Given the description of an element on the screen output the (x, y) to click on. 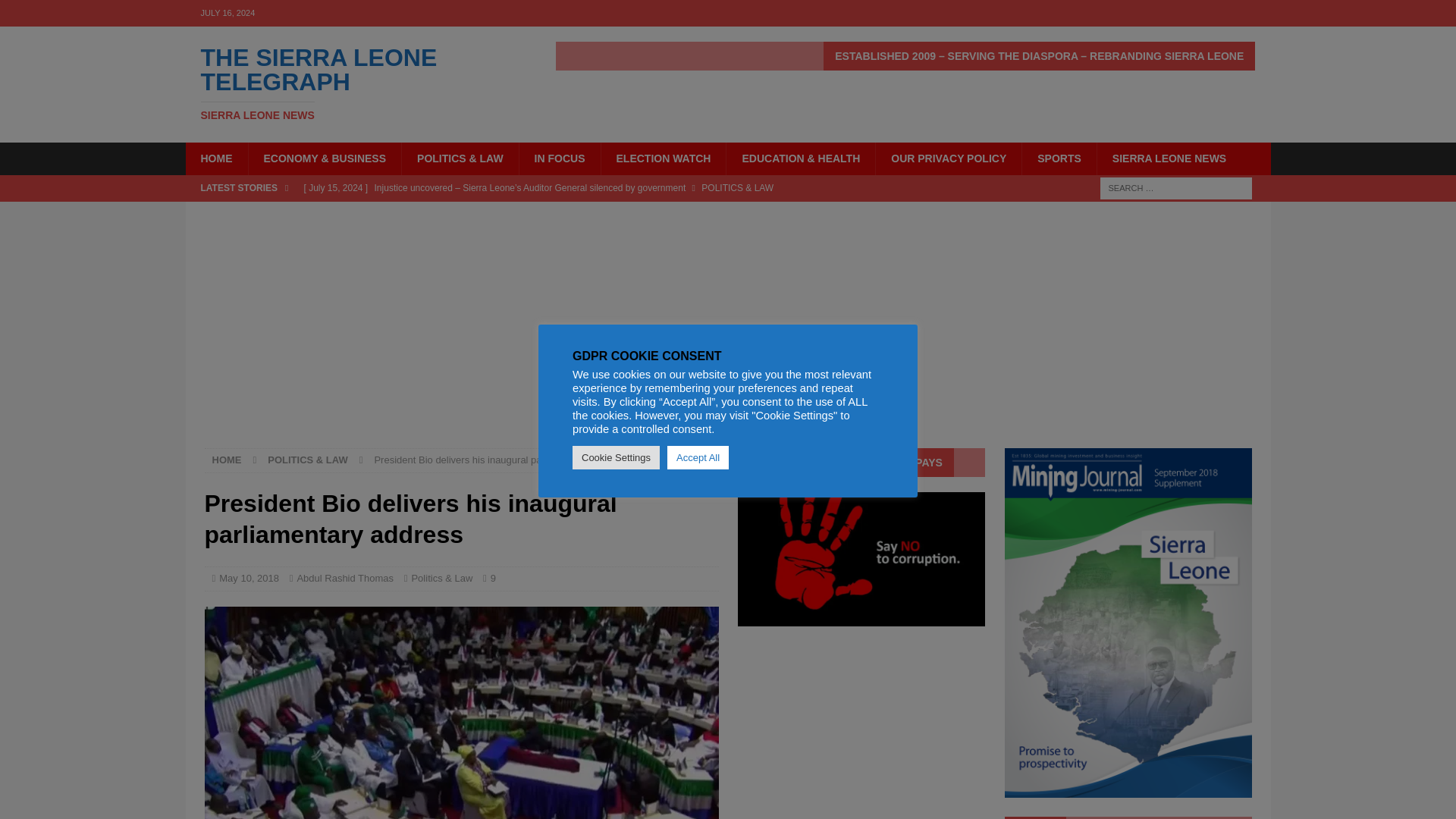
IN FOCUS (558, 158)
May 10, 2018 (249, 577)
ELECTION WATCH (662, 158)
SPORTS (1059, 158)
Search (56, 11)
HOME (226, 460)
official opening of parliament 2018 111 (462, 712)
The Sierra Leone Telegraph (356, 83)
OUR PRIVACY POLICY (948, 158)
SIERRA LEONE NEWS (356, 83)
Abdul Rashid Thomas (1168, 158)
HOME (345, 577)
Advertisement (215, 158)
